Given the description of an element on the screen output the (x, y) to click on. 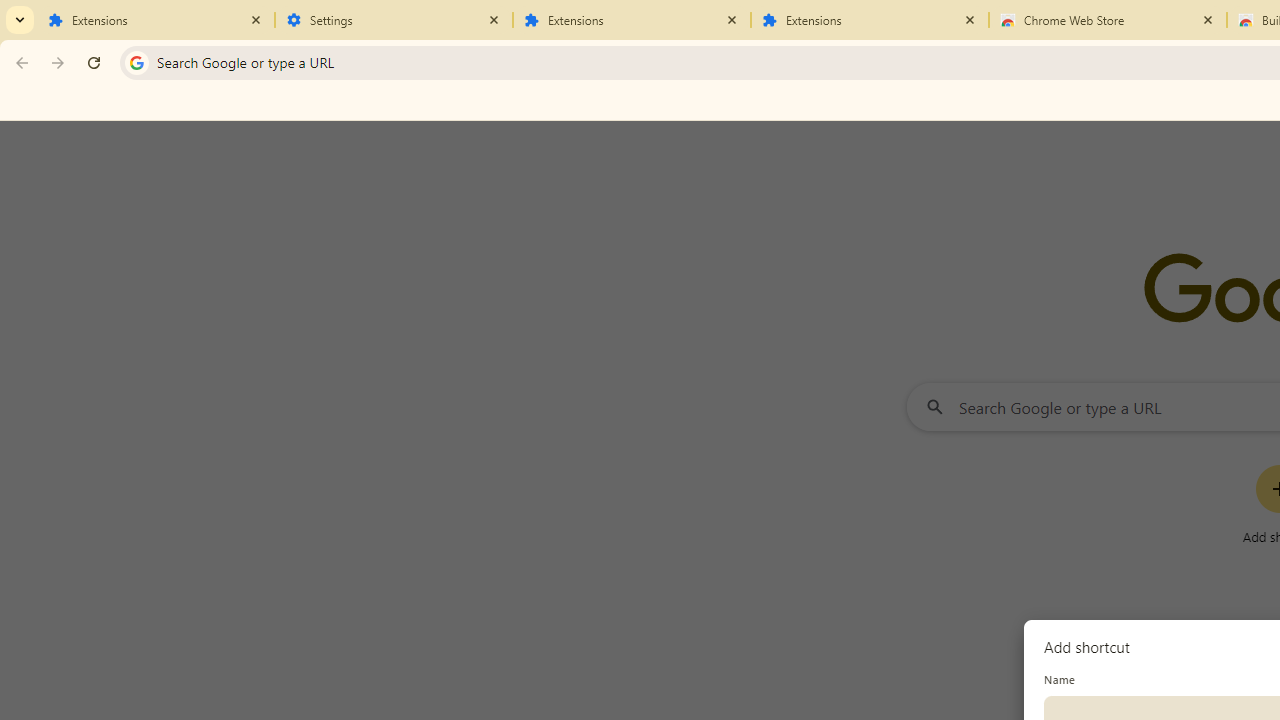
Extensions (632, 20)
Chrome Web Store (1108, 20)
Extensions (870, 20)
Extensions (156, 20)
Settings (394, 20)
